Given the description of an element on the screen output the (x, y) to click on. 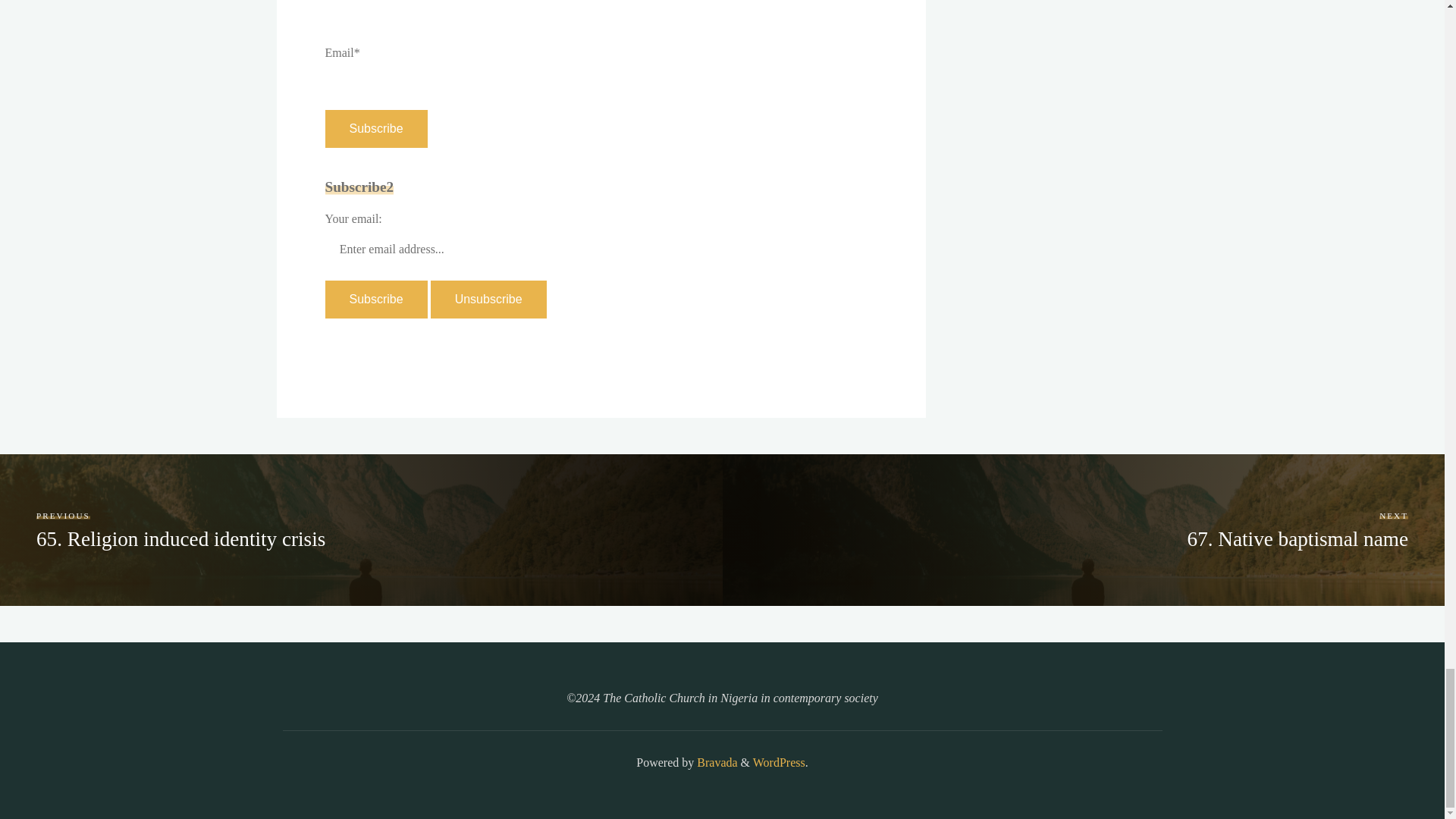
Unsubscribe (488, 299)
Subscribe (375, 128)
Subscribe (375, 128)
Semantic Personal Publishing Platform (778, 762)
Subscribe (375, 299)
Unsubscribe (488, 299)
Enter email address... (411, 249)
Bravada WordPress Theme by Cryout Creations (715, 762)
Subscribe (375, 299)
